Given the description of an element on the screen output the (x, y) to click on. 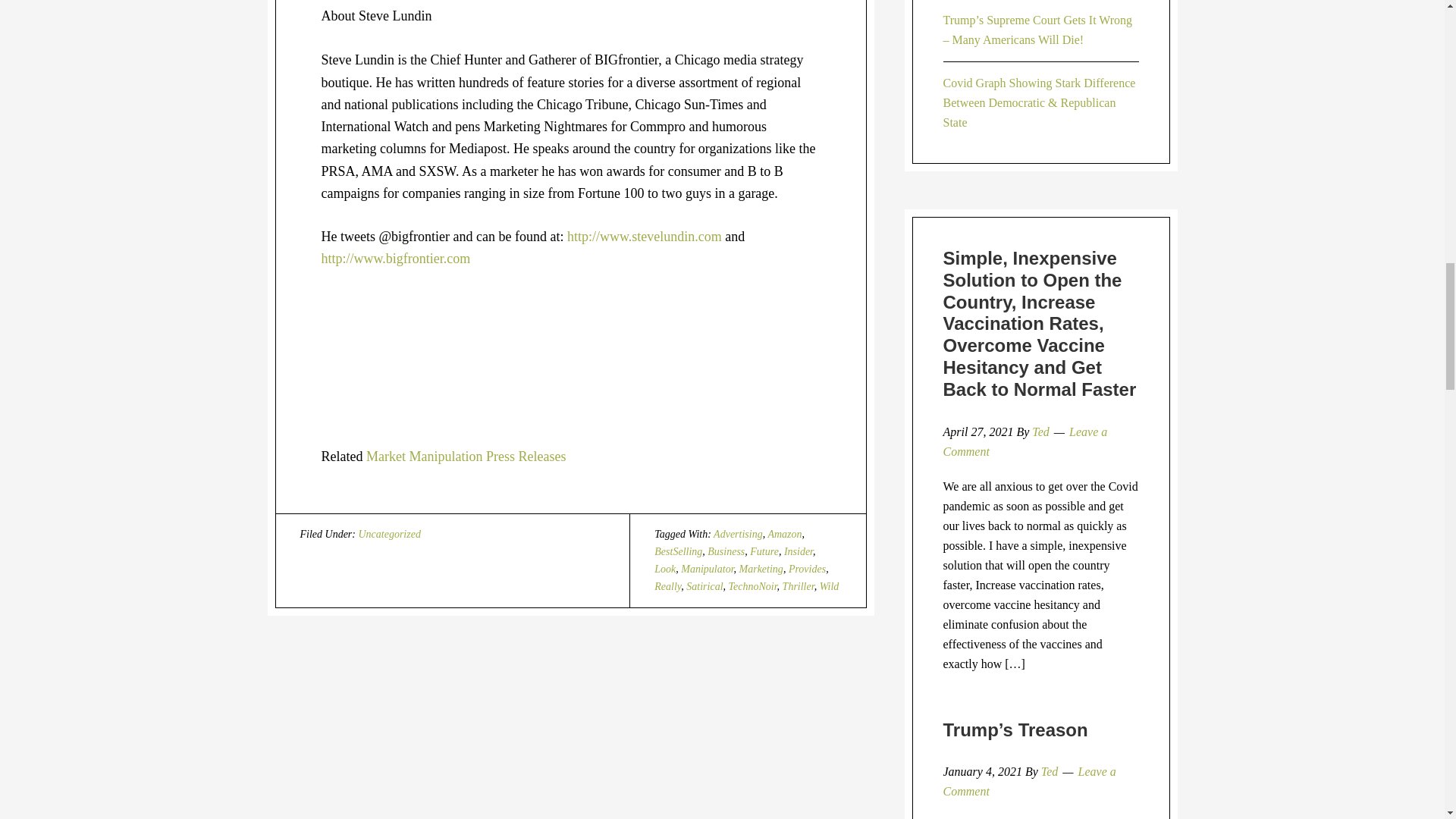
Thriller (798, 586)
Advertising (737, 533)
Amazon (784, 533)
Insider (798, 551)
Really (667, 586)
Marketing (761, 568)
Manipulator (707, 568)
Future (763, 551)
Uncategorized (389, 533)
Business (725, 551)
BestSelling (677, 551)
TechnoNoir (753, 586)
Wild (829, 586)
Provides (807, 568)
Look (664, 568)
